Given the description of an element on the screen output the (x, y) to click on. 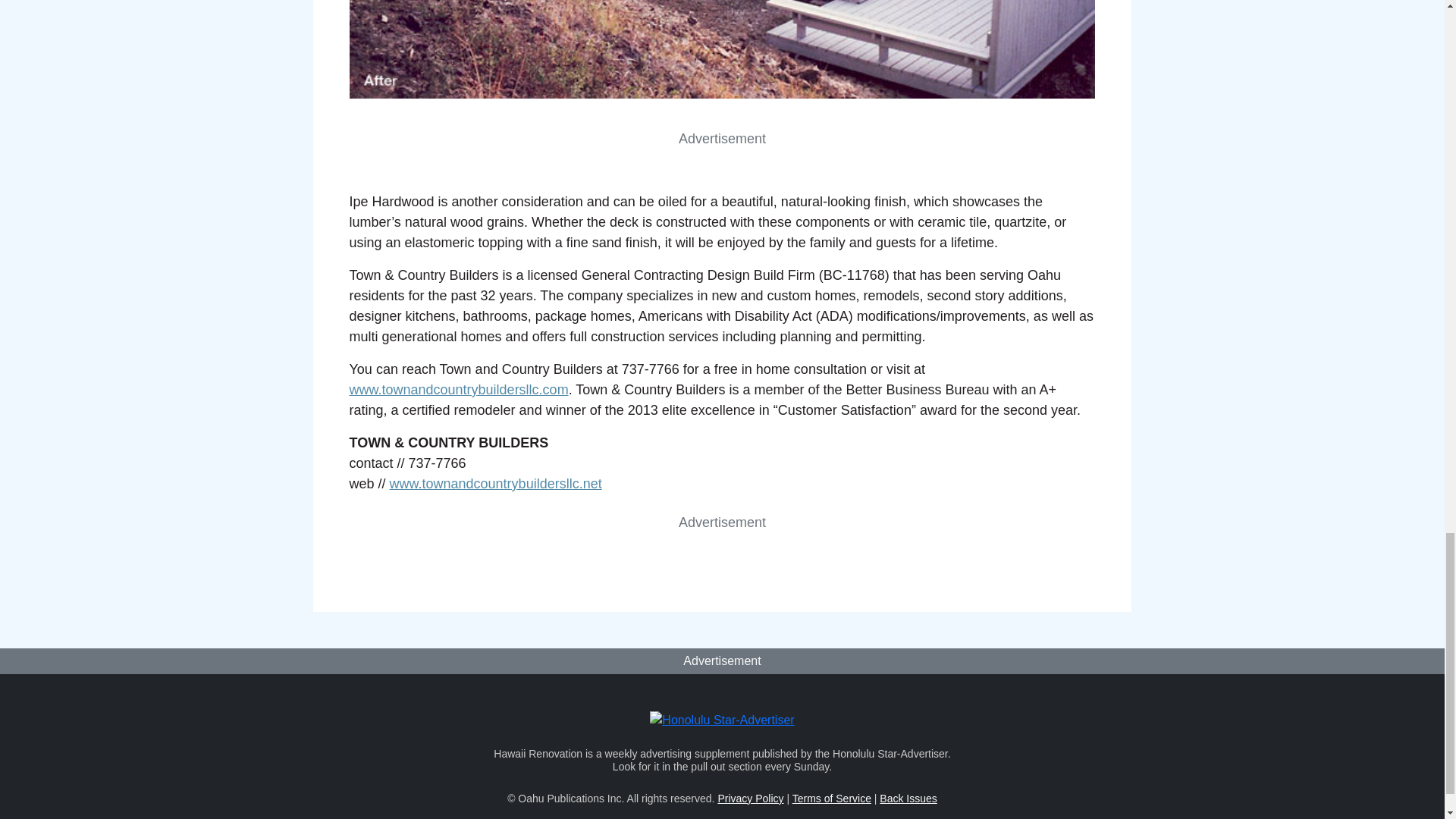
Terms of Service (831, 798)
www.townandcountrybuildersllc.net (496, 483)
Back Issues (907, 798)
Privacy Policy (750, 798)
www.townandcountrybuildersllc.com (458, 389)
